Given the description of an element on the screen output the (x, y) to click on. 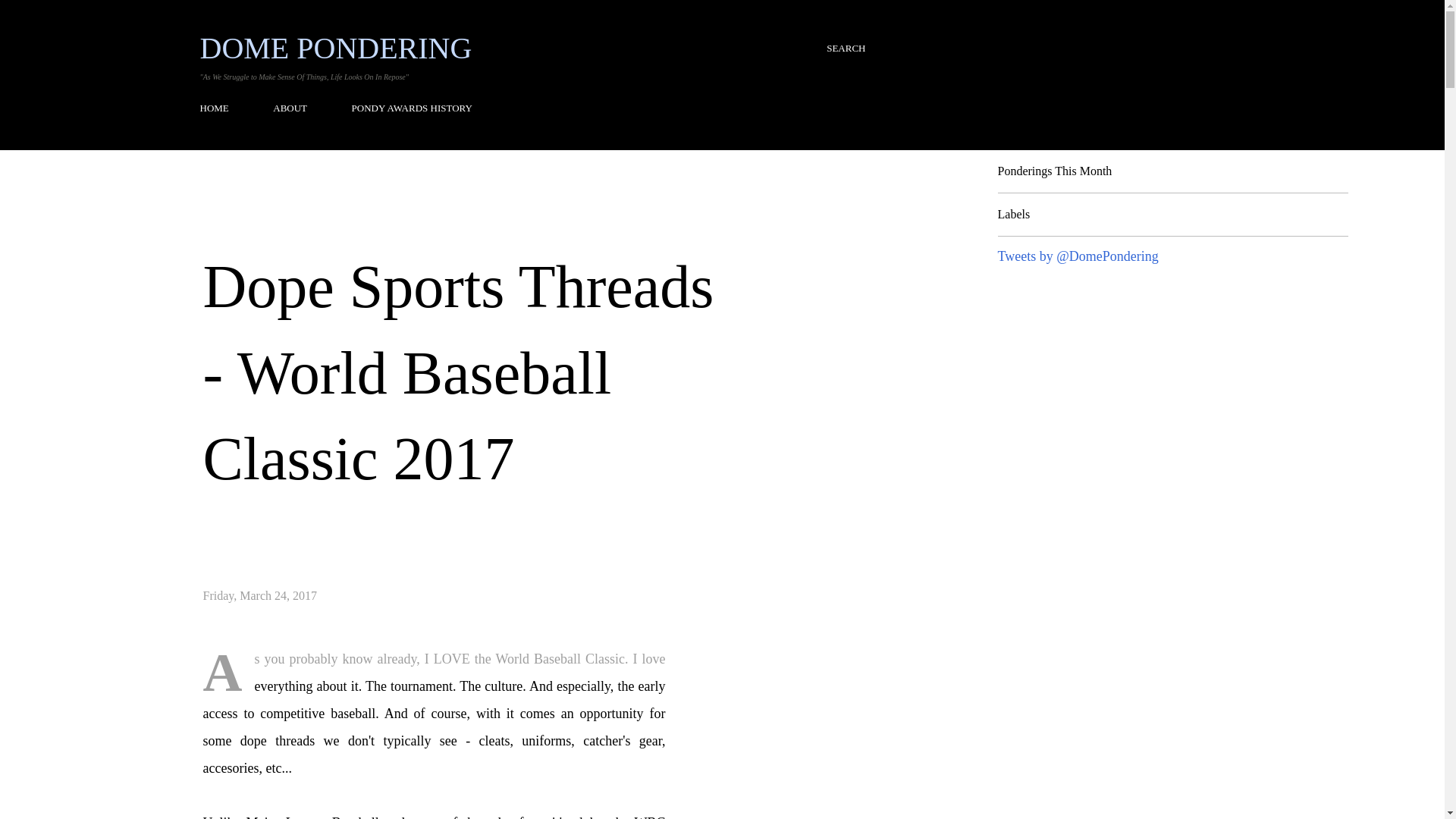
permanent link (260, 594)
HOME (219, 107)
Friday, March 24, 2017 (260, 594)
SEARCH (845, 48)
PONDY AWARDS HISTORY (411, 107)
DOME PONDERING (335, 48)
ABOUT (289, 107)
